Given the description of an element on the screen output the (x, y) to click on. 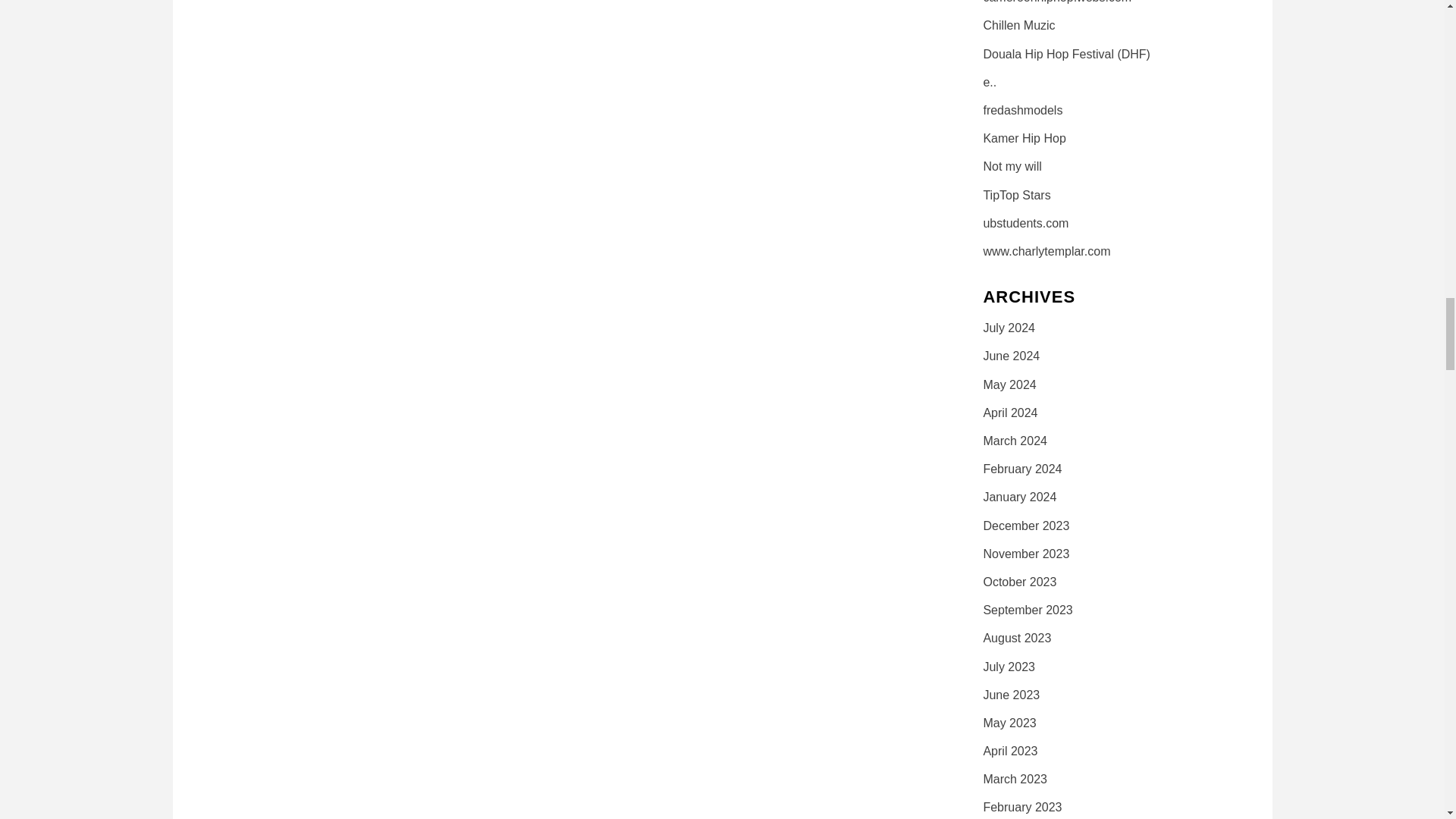
Biggest urban music festival in Cameroon (1066, 53)
Chillen Muzic studios (1018, 24)
Cameroonian DJ,official site (1045, 250)
